Given the description of an element on the screen output the (x, y) to click on. 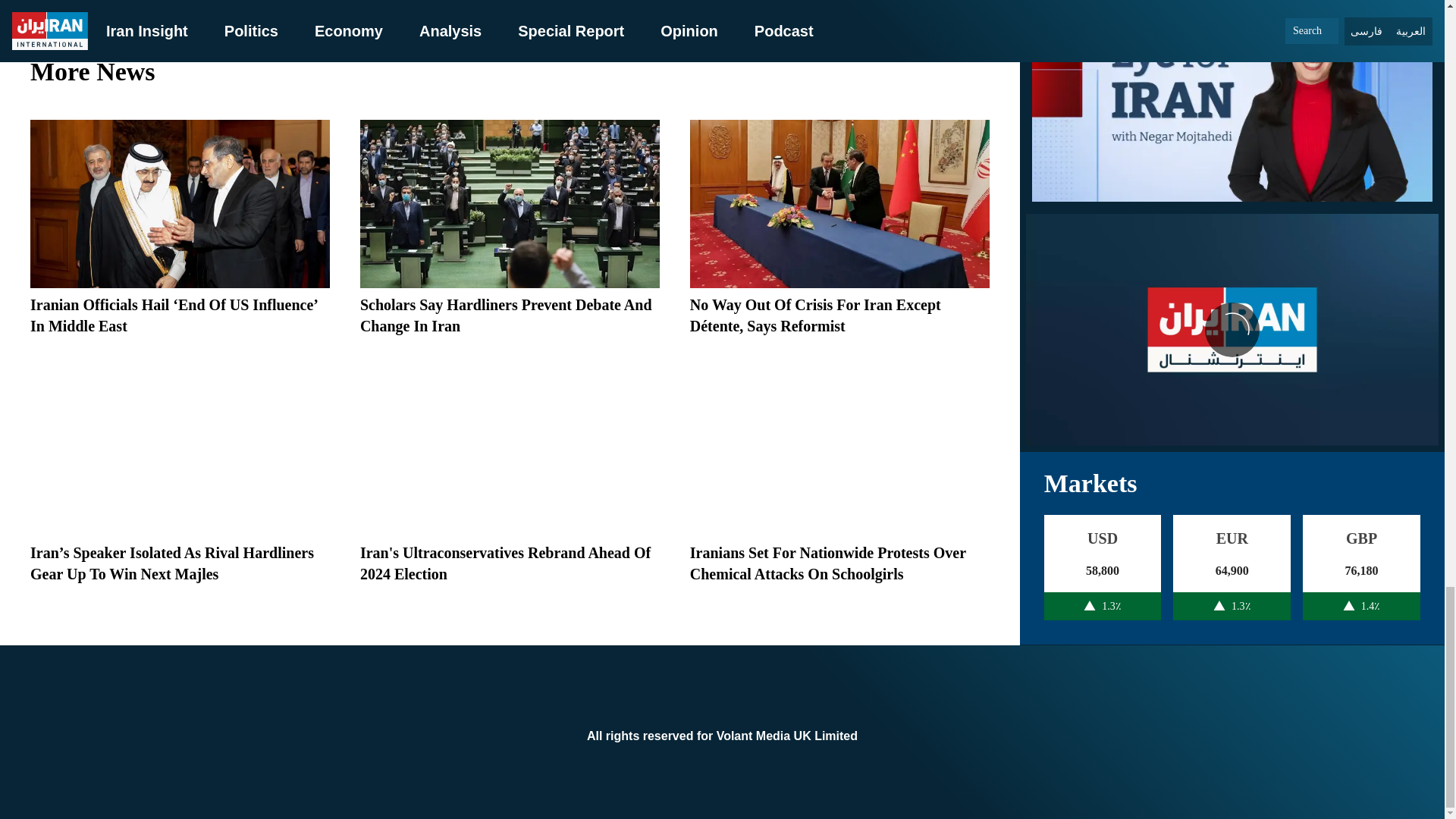
Iran's Ultraconservatives Rebrand Ahead Of 2024 Election (504, 563)
More News (510, 72)
Scholars Say Hardliners Prevent Debate And Change In Iran (505, 315)
